Given the description of an element on the screen output the (x, y) to click on. 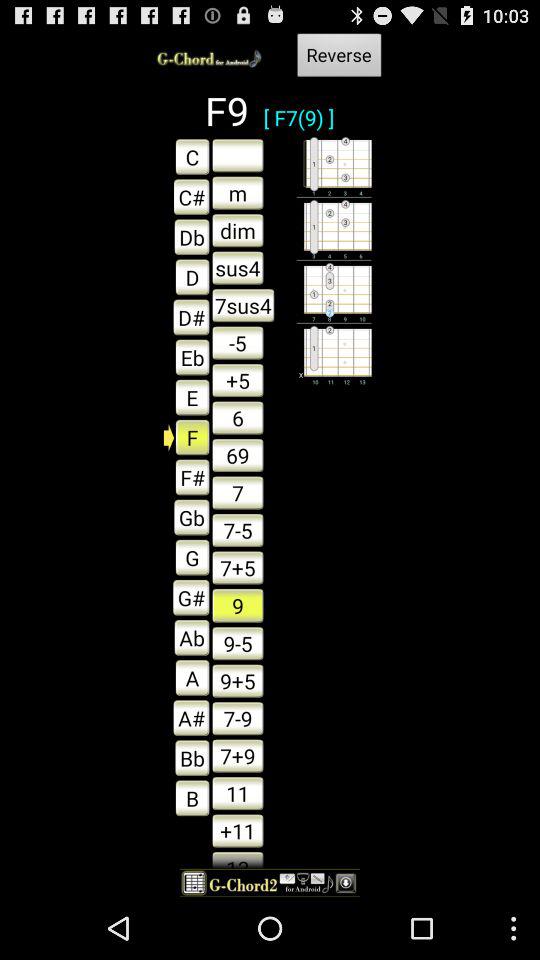
press the button below m icon (237, 230)
